Given the description of an element on the screen output the (x, y) to click on. 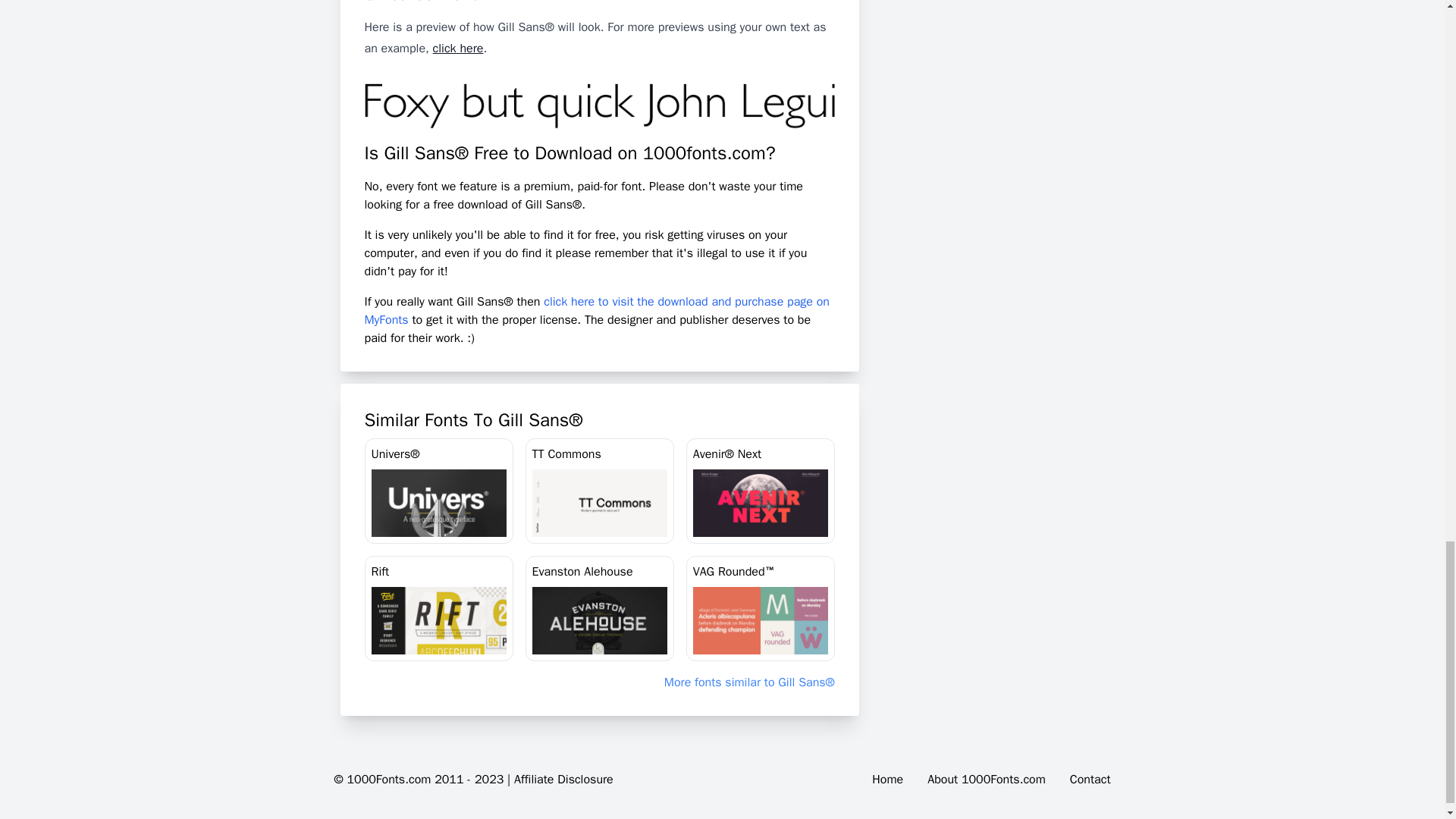
Affiliate Disclosure (562, 779)
Rift (438, 608)
Evanston Alehouse (599, 608)
click here (457, 48)
TT Commons (599, 490)
